Given the description of an element on the screen output the (x, y) to click on. 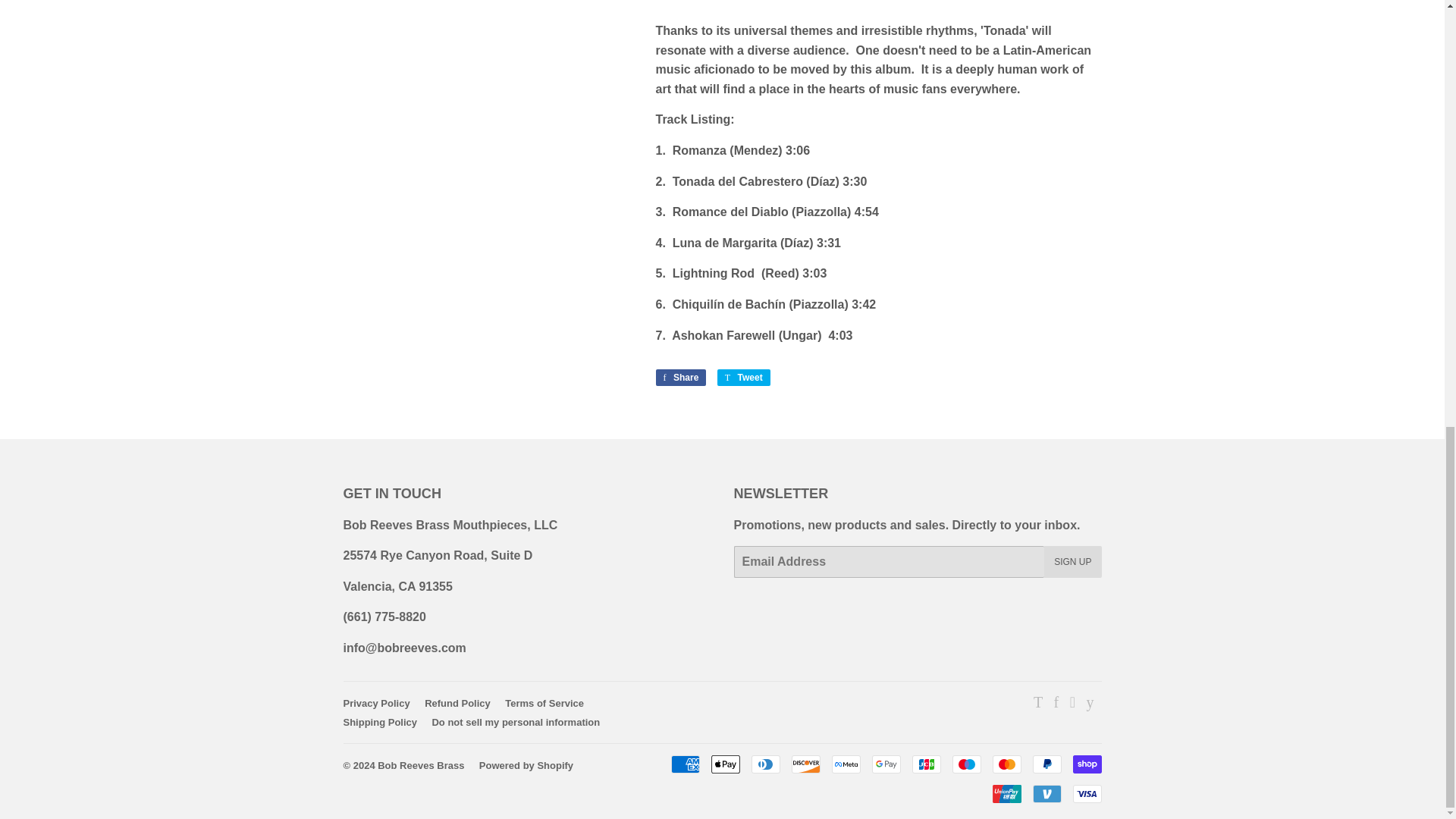
Apple Pay (725, 764)
Google Pay (886, 764)
Tweet on Twitter (743, 377)
JCB (925, 764)
Share on Facebook (680, 377)
Discover (806, 764)
Mastercard (1005, 764)
American Express (683, 764)
Union Pay (1005, 793)
Diners Club (764, 764)
Visa (1085, 793)
Meta Pay (845, 764)
Shop Pay (1085, 764)
Maestro (966, 764)
Venmo (1046, 793)
